Given the description of an element on the screen output the (x, y) to click on. 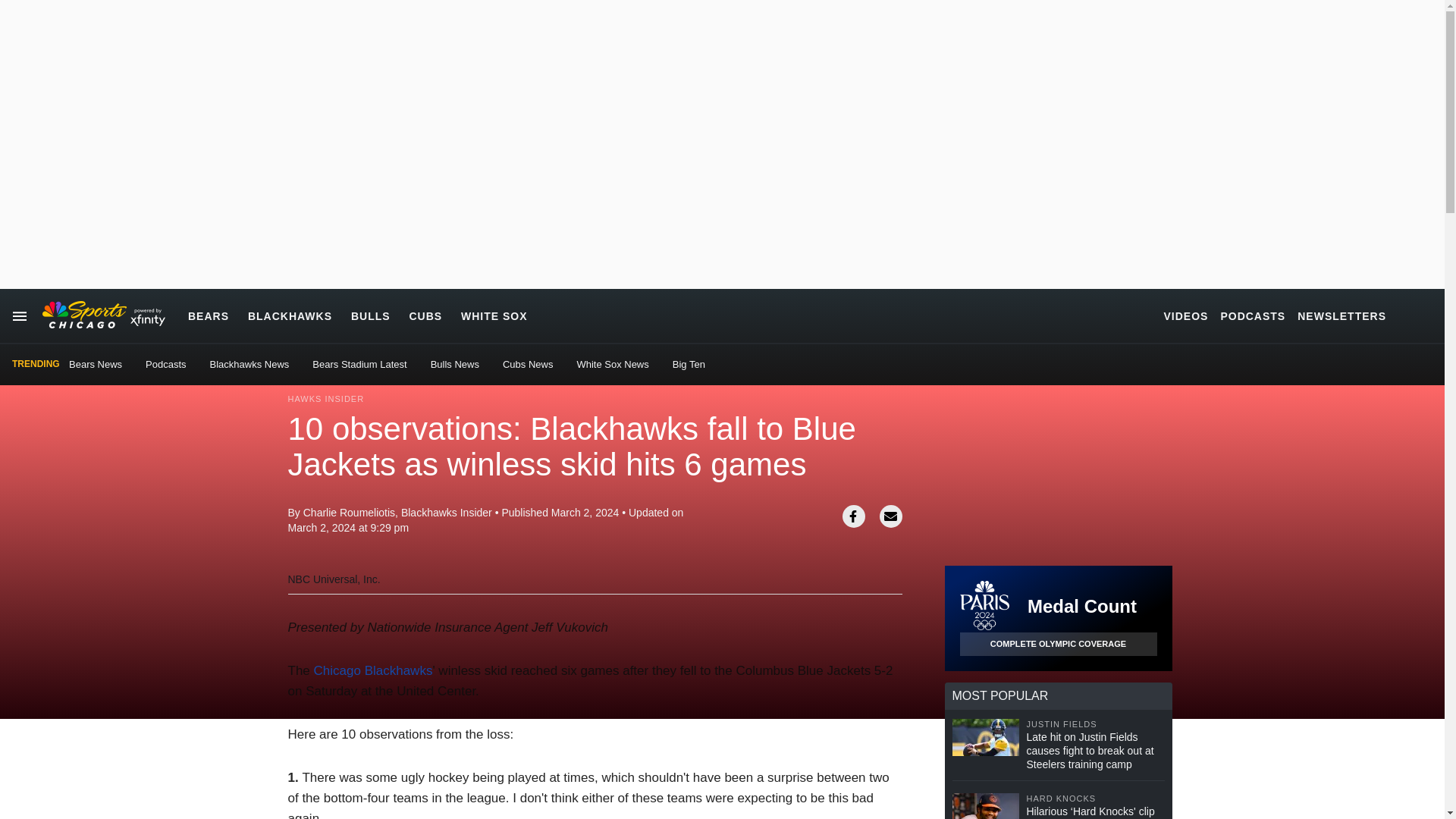
CUBS (425, 315)
Bulls News (454, 364)
VIDEOS (1185, 315)
Charlie Roumeliotis, Blackhawks Insider (397, 512)
Bears News (95, 364)
Cubs News (527, 364)
Bears Stadium Latest (359, 364)
Blackhawks News (249, 364)
BULLS (370, 315)
Chicago Blackhawks (373, 670)
